Given the description of an element on the screen output the (x, y) to click on. 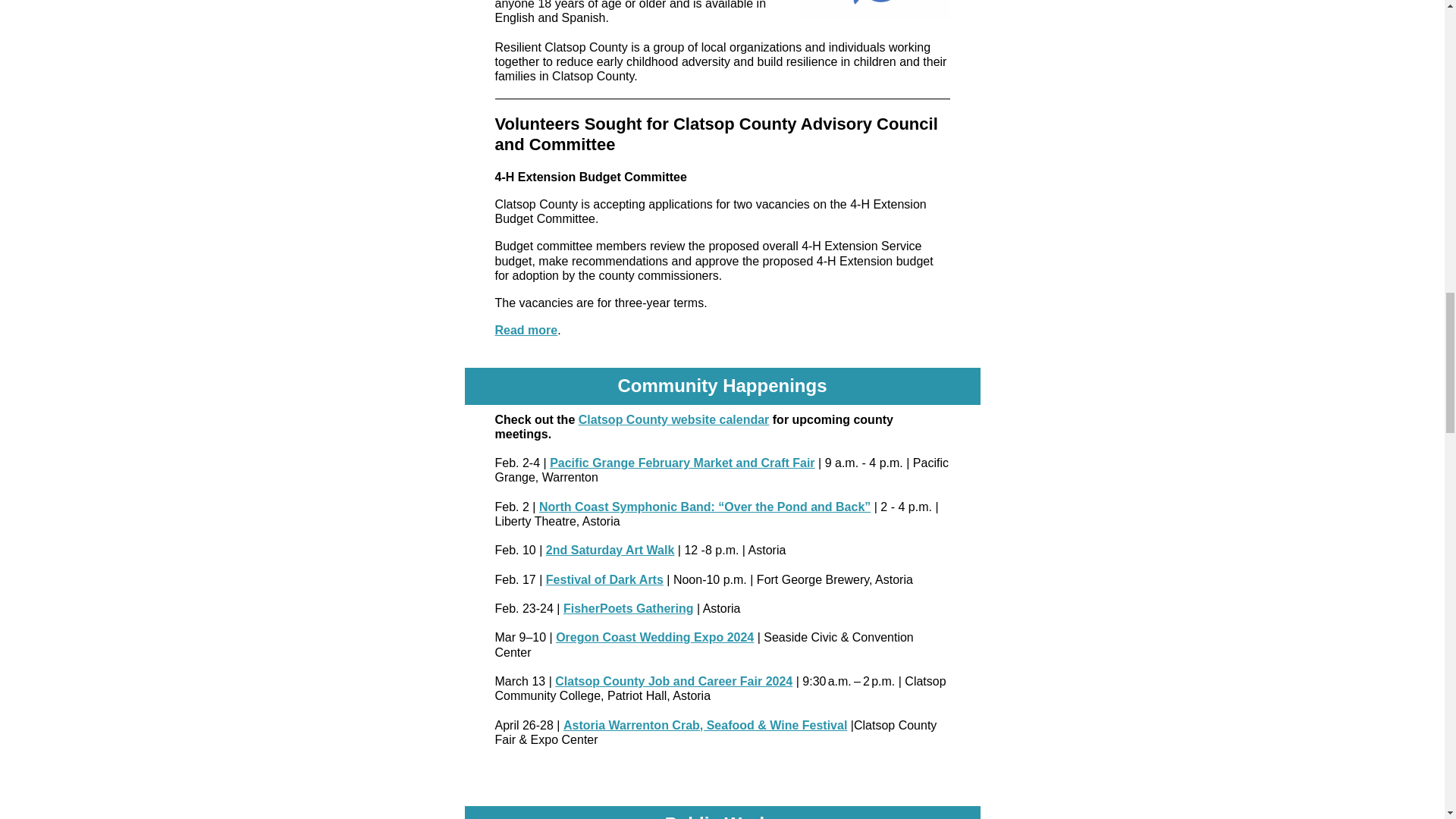
Clatsop County Job and Career Fair 2024 (673, 680)
2nd Saturday Art Walk (610, 549)
Oregon Coast Wedding Expo 2024 (655, 636)
Festival of Dark Arts (604, 579)
Clatsop County website calendar (674, 419)
Pacific Grange February Market and Craft Fair (681, 462)
Read more (526, 329)
FisherPoets Gathering (628, 608)
